Given the description of an element on the screen output the (x, y) to click on. 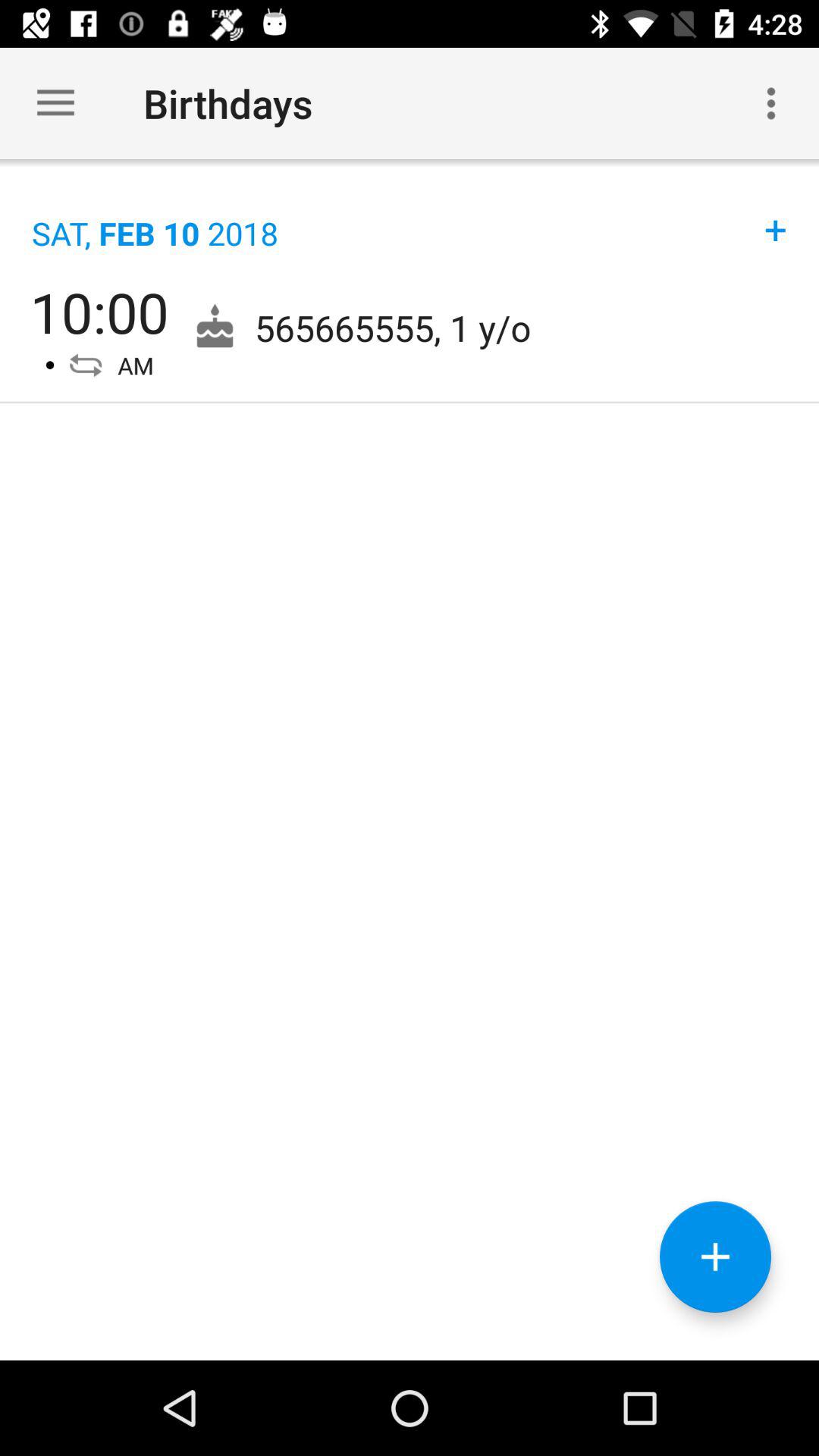
select the icon next to birthdays icon (55, 103)
